Given the description of an element on the screen output the (x, y) to click on. 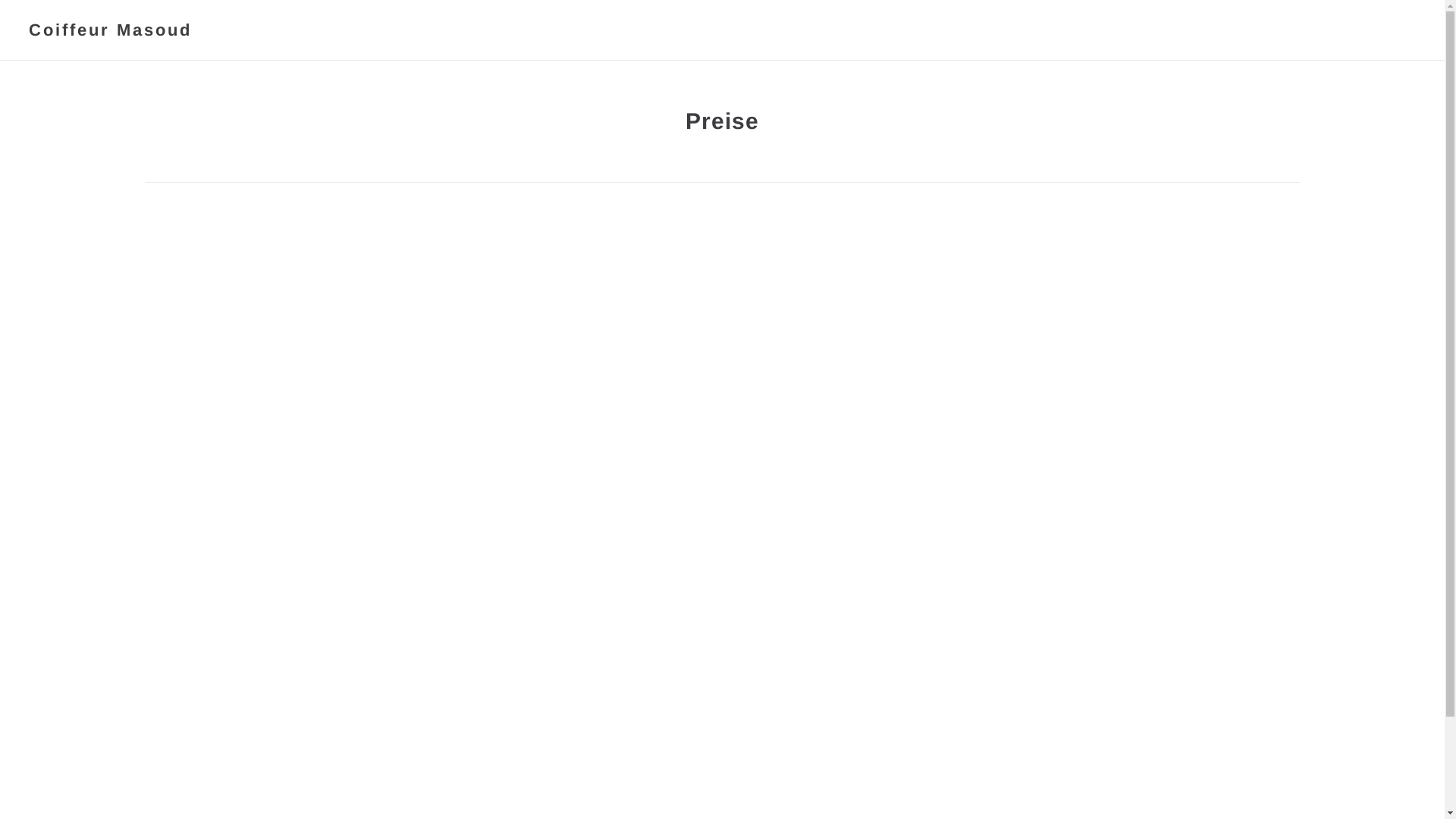
Coiffeur Masoud Element type: text (109, 28)
